Given the description of an element on the screen output the (x, y) to click on. 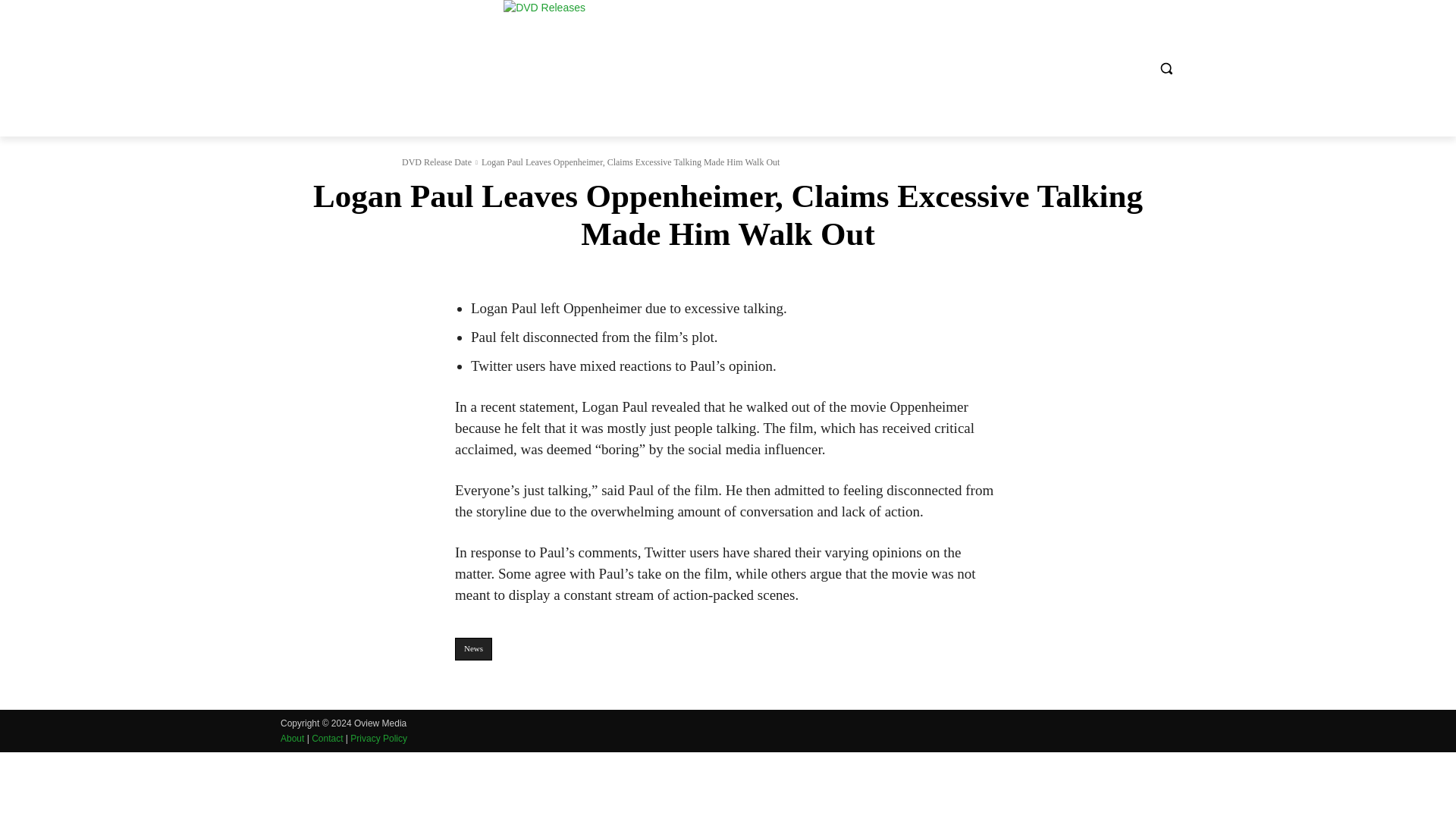
Contact (326, 738)
DVDs Release Dates (709, 68)
Privacy Policy (378, 738)
About (292, 738)
DVDs Release Dates (709, 68)
DVD Release Date (436, 162)
News (473, 649)
